Given the description of an element on the screen output the (x, y) to click on. 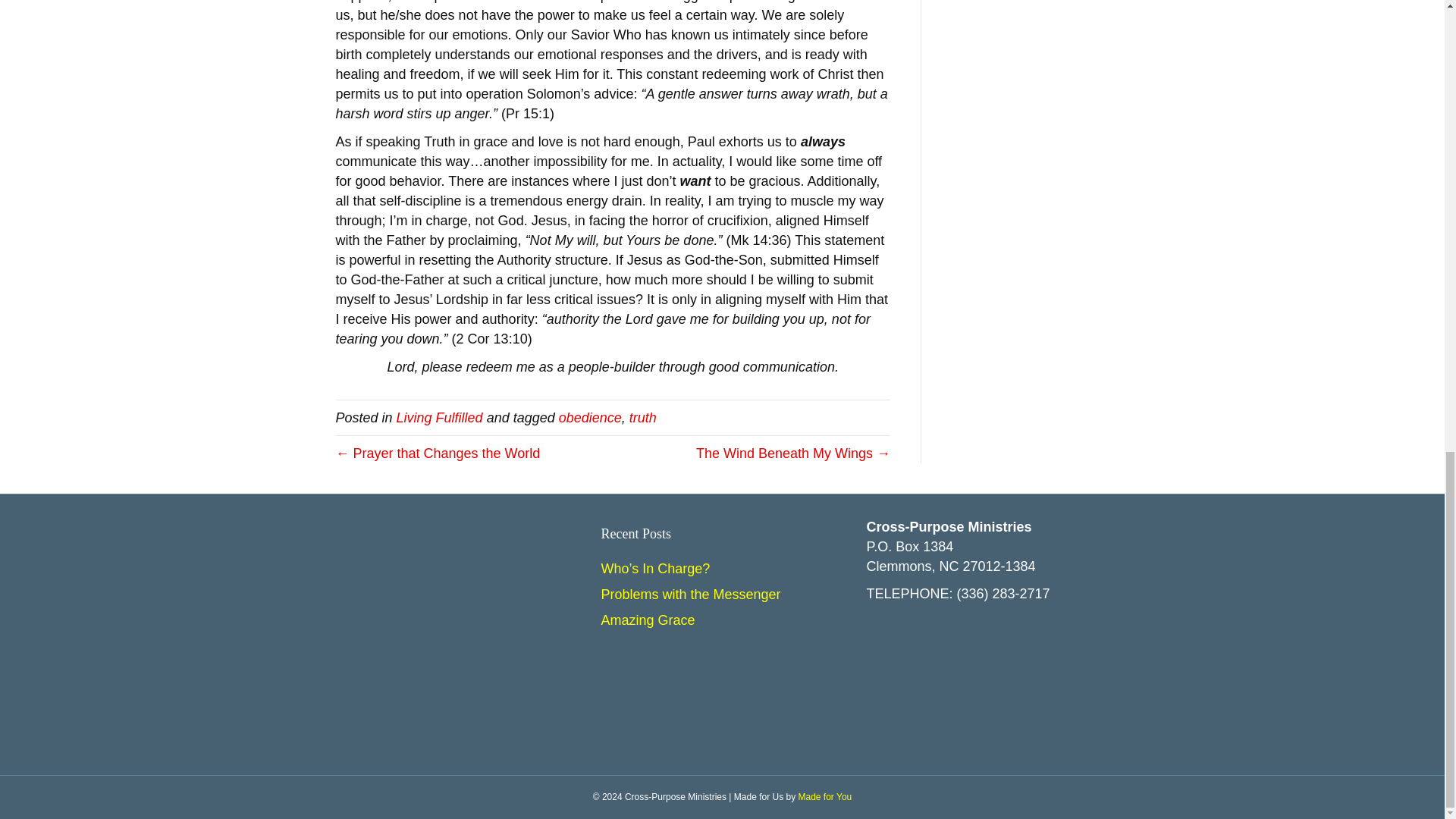
obedience (590, 417)
truth (642, 417)
Websites, Video and Marketing Automation (824, 796)
Living Fulfilled (439, 417)
